Given the description of an element on the screen output the (x, y) to click on. 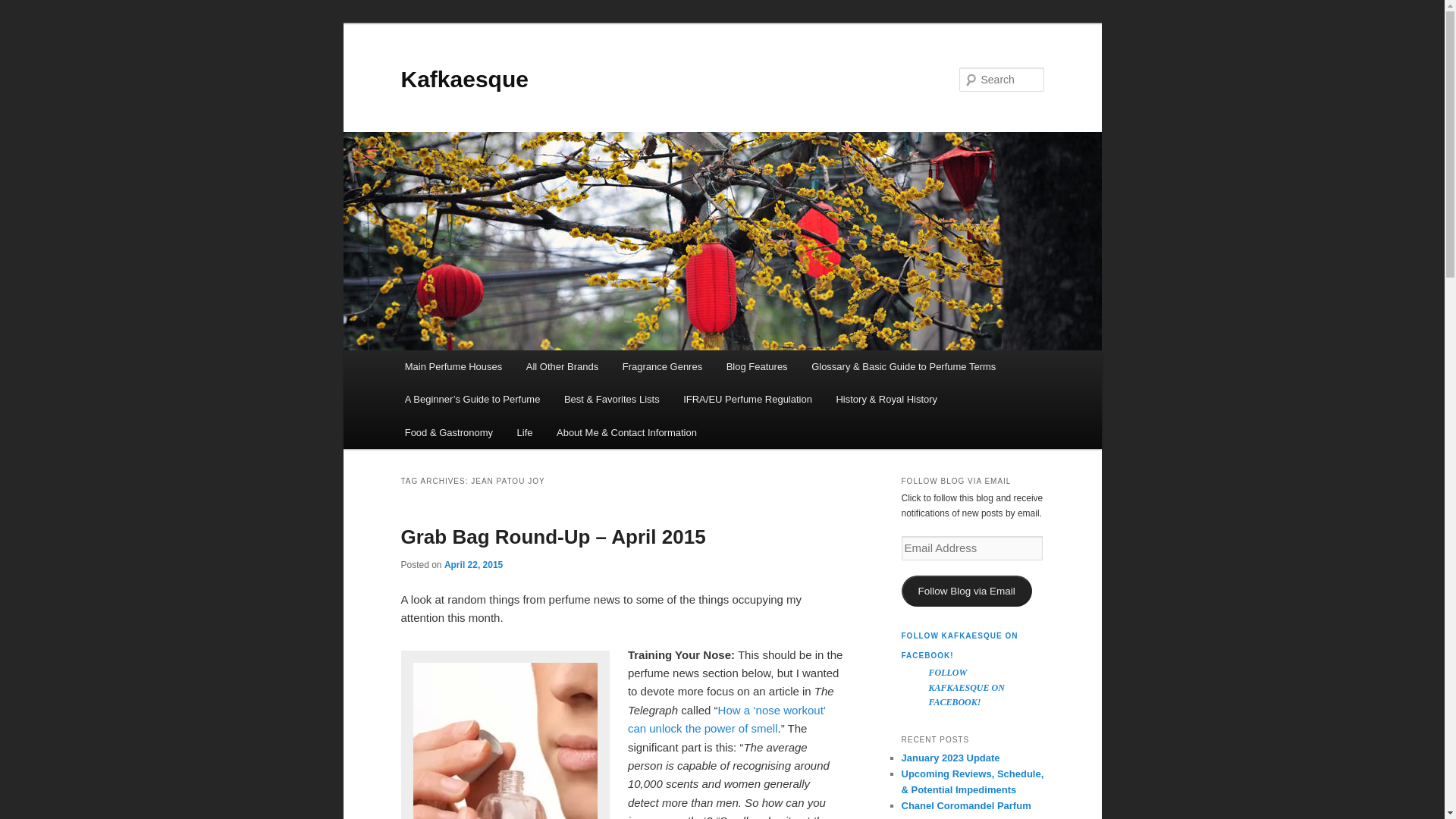
Kafkaesque (463, 78)
11:19 pm (473, 564)
Main Perfume Houses (453, 366)
Kafkaesque (463, 78)
All Other Brands (561, 366)
Search (24, 8)
